Given the description of an element on the screen output the (x, y) to click on. 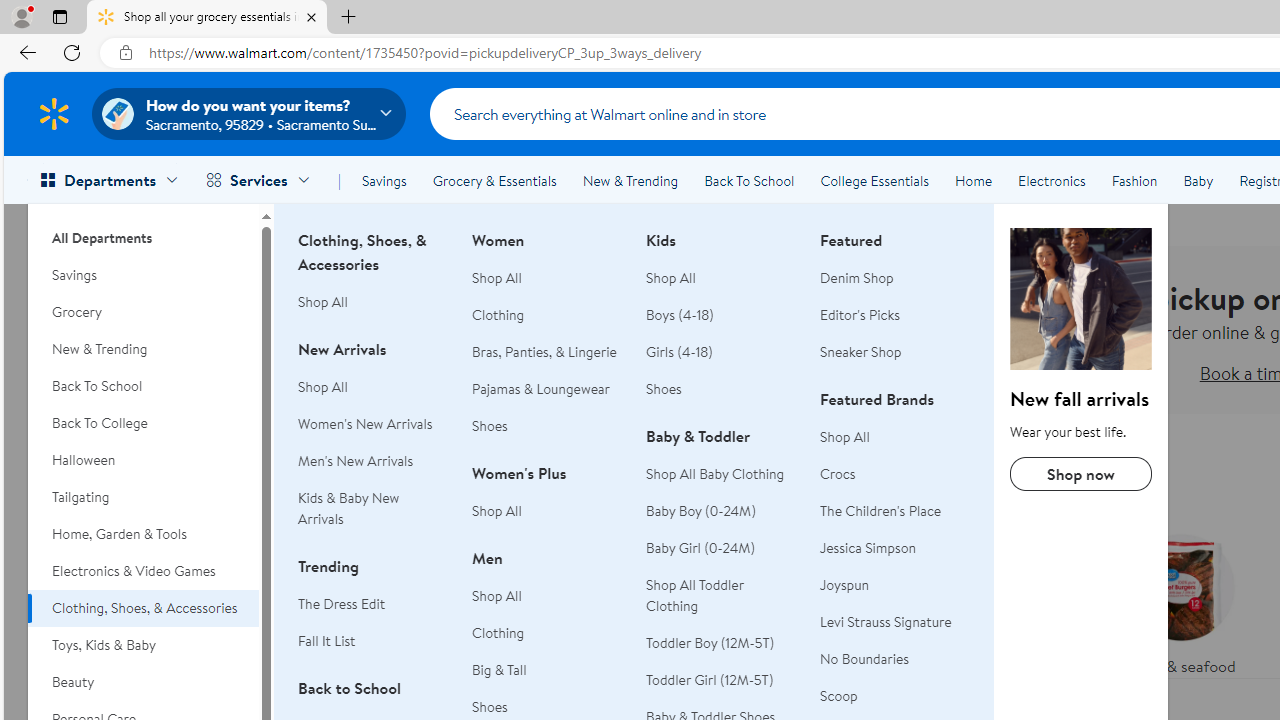
Sneaker Shop (861, 352)
Tailgating (143, 497)
Fall It List (373, 641)
Clothing, Shoes, & Accessories (143, 608)
College Essentials (874, 180)
Baby (1197, 180)
Girls (4-18) (721, 352)
Fall It List (326, 640)
Levi Strauss Signature (895, 622)
Fashion (1134, 180)
Boys (4-18) (680, 314)
Clothing, Shoes, & AccessoriesShop All (373, 282)
Shop All Toddler Clothing (721, 596)
